Given the description of an element on the screen output the (x, y) to click on. 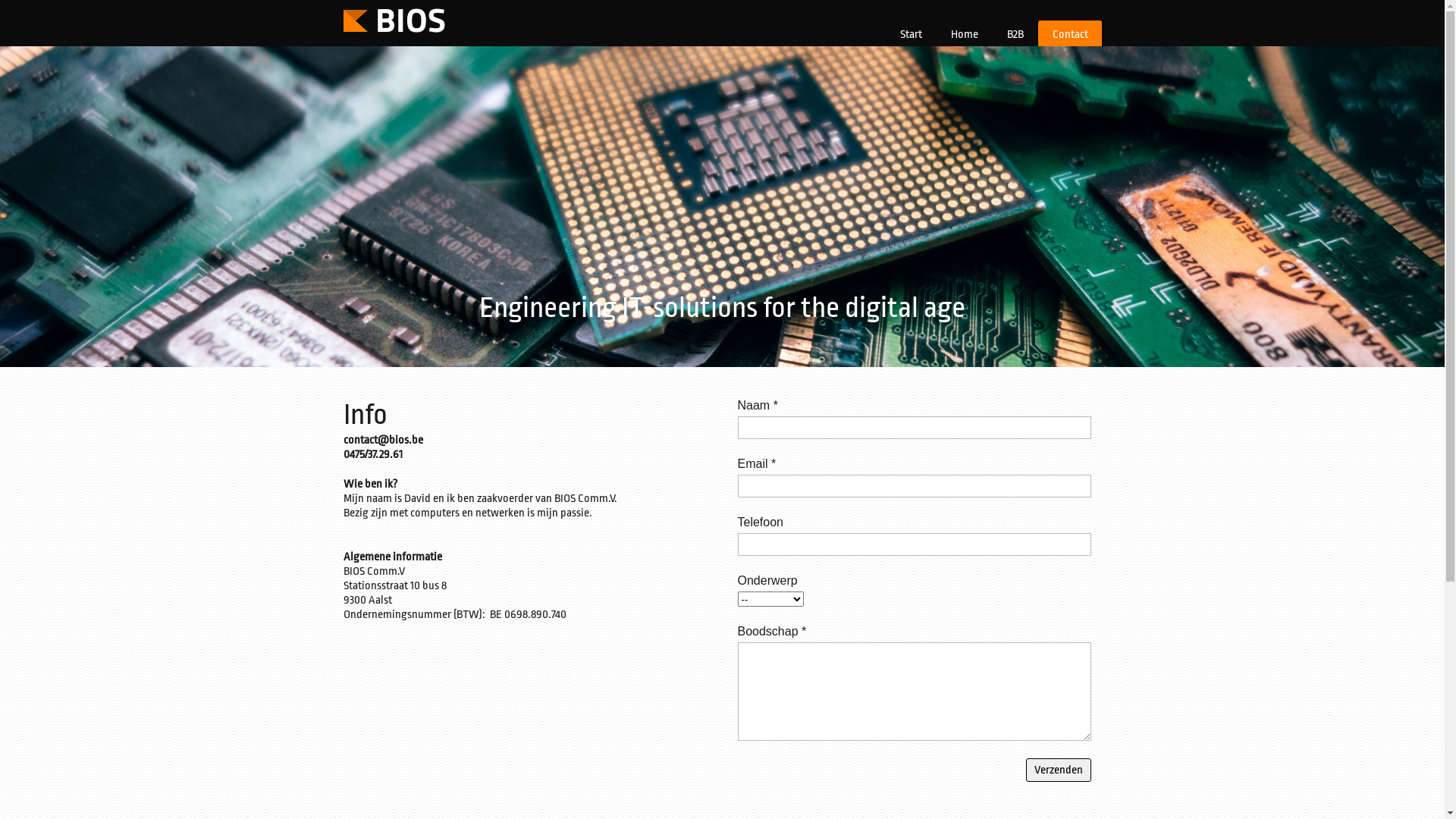
Verzenden Element type: text (1057, 769)
Start Element type: text (910, 33)
Contact Element type: text (1069, 33)
B2B Element type: text (1013, 33)
Home Element type: text (963, 33)
